Given the description of an element on the screen output the (x, y) to click on. 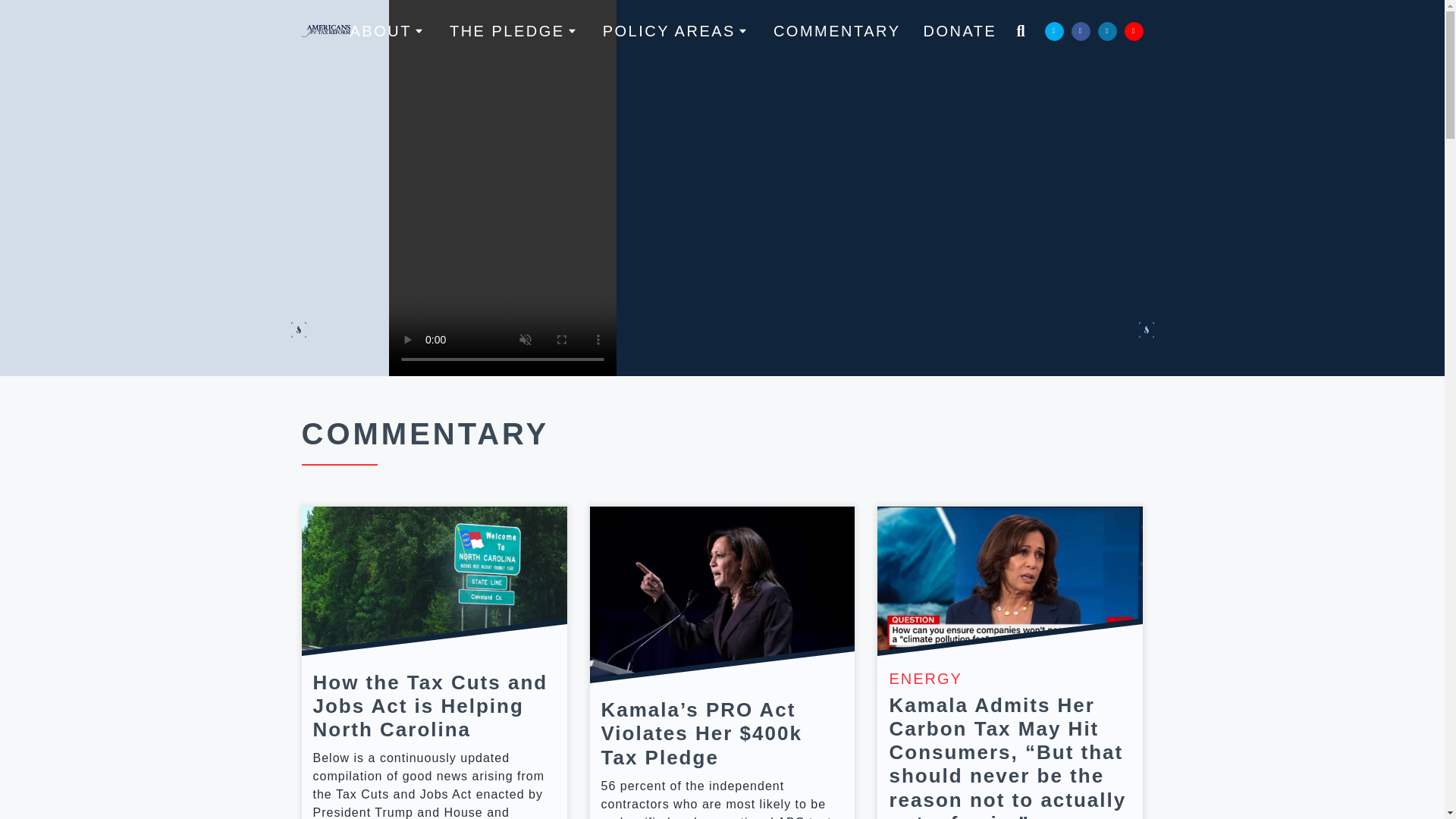
Twitter (1054, 30)
LinkedIn (1106, 30)
Facebook (1079, 30)
COMMENTARY (837, 30)
THE PLEDGE (514, 30)
POLICY AREAS (676, 30)
ABOUT (388, 30)
YouTube (1133, 30)
DONATE (960, 30)
